Given the description of an element on the screen output the (x, y) to click on. 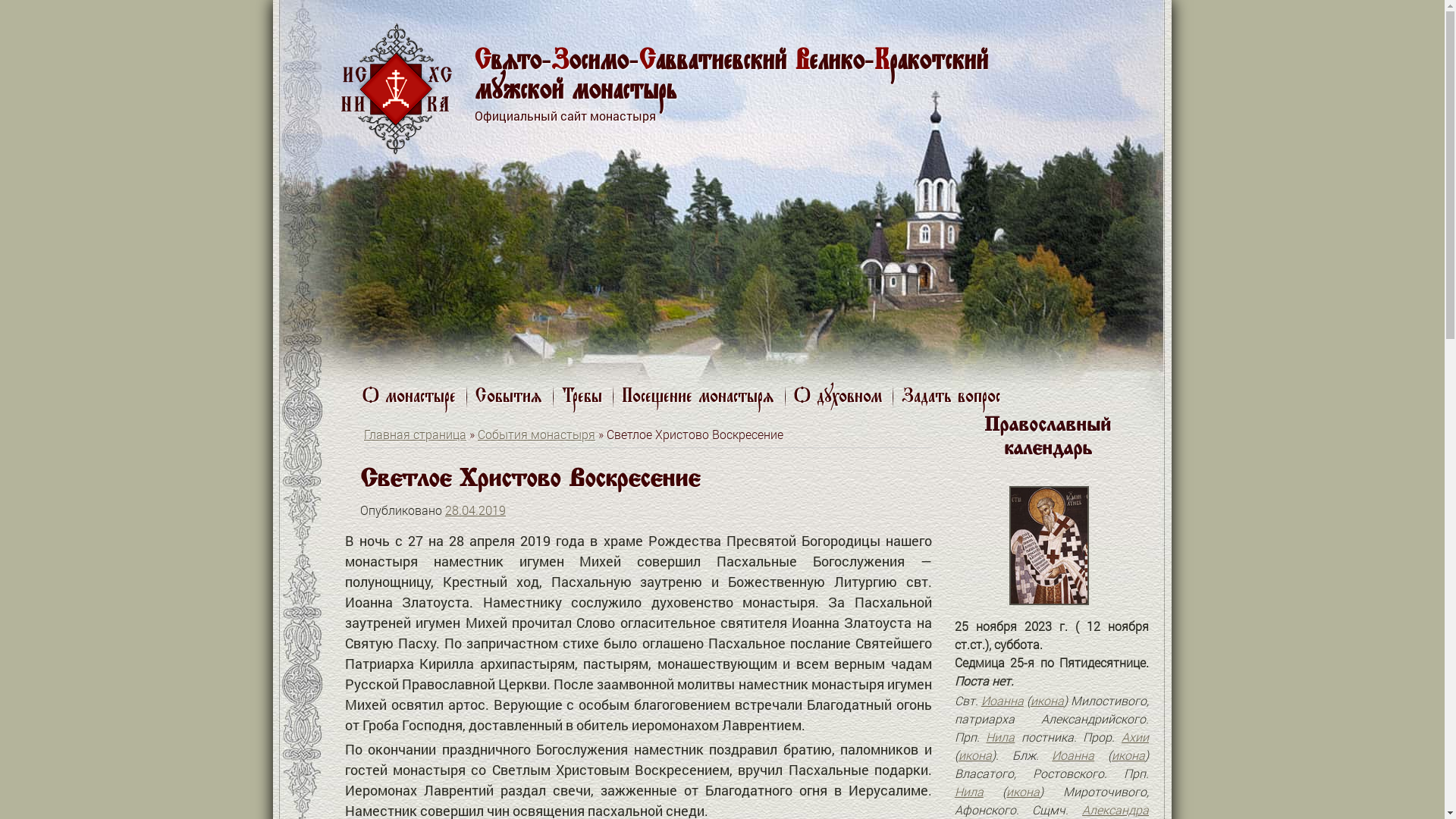
28.04.2019 Element type: text (475, 509)
